Given the description of an element on the screen output the (x, y) to click on. 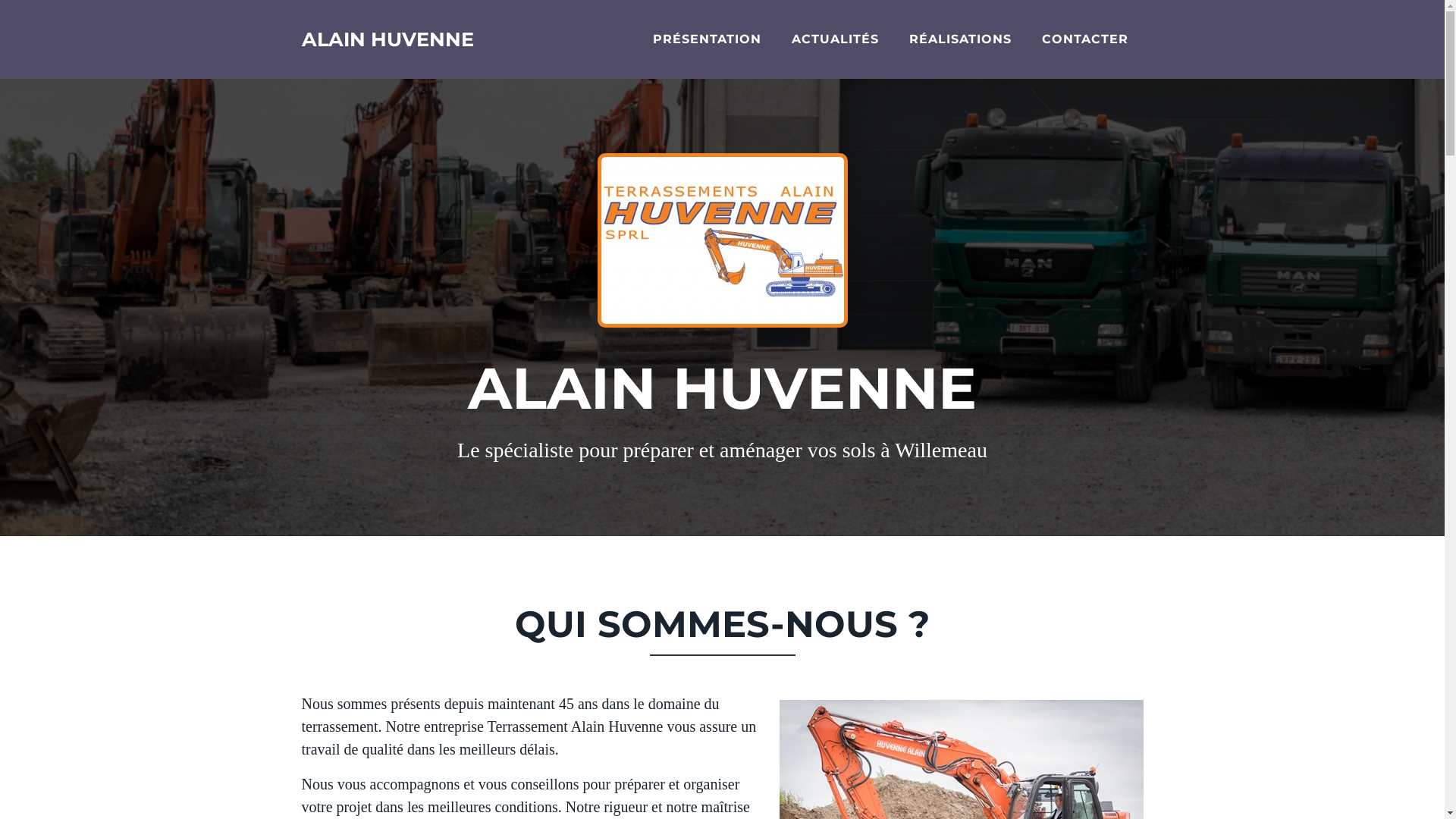
ALAIN HUVENNE Element type: text (387, 39)
CONTACTER Element type: text (1084, 39)
